Given the description of an element on the screen output the (x, y) to click on. 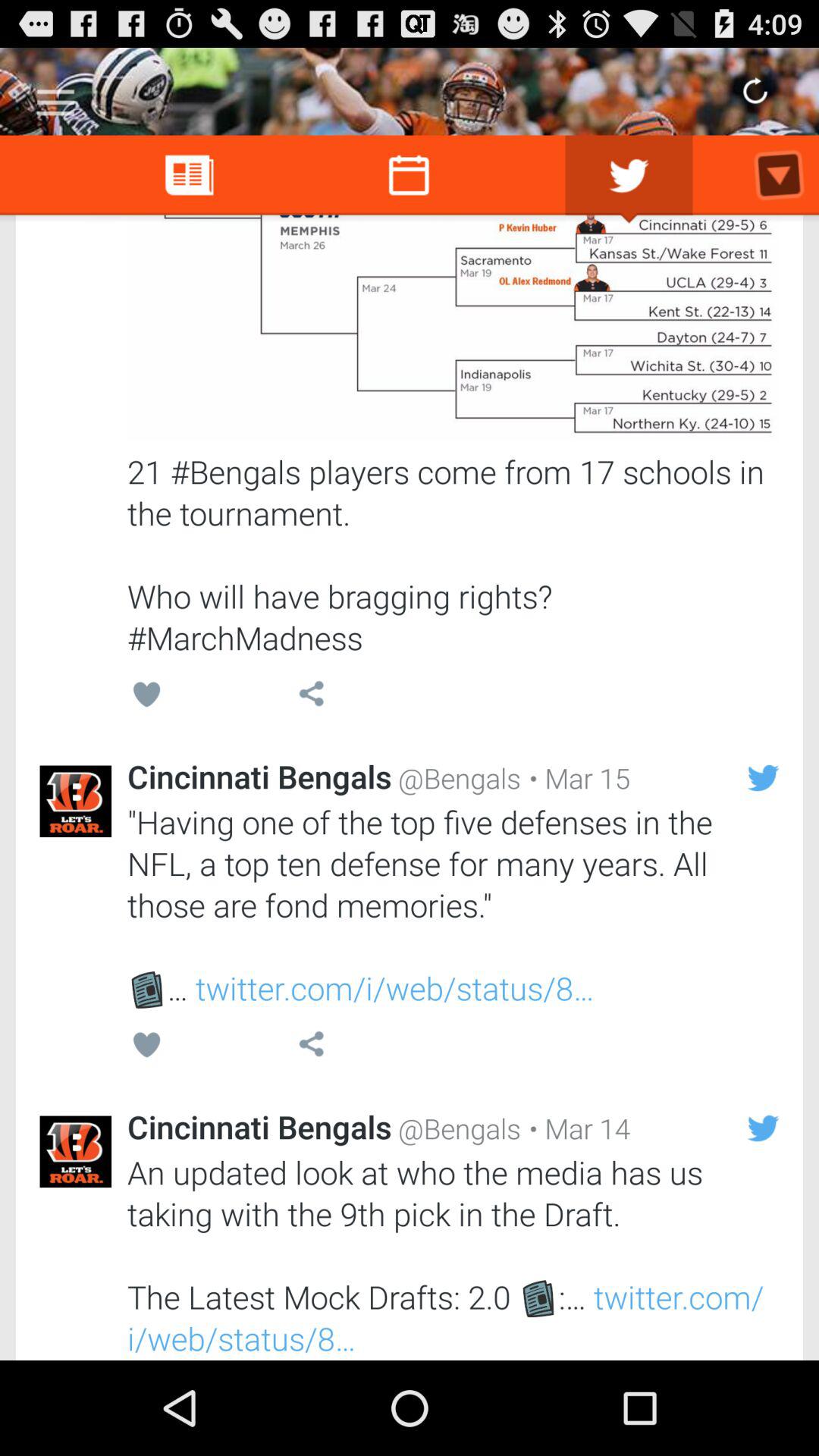
turn on the item to the right of the @bengals item (575, 777)
